Given the description of an element on the screen output the (x, y) to click on. 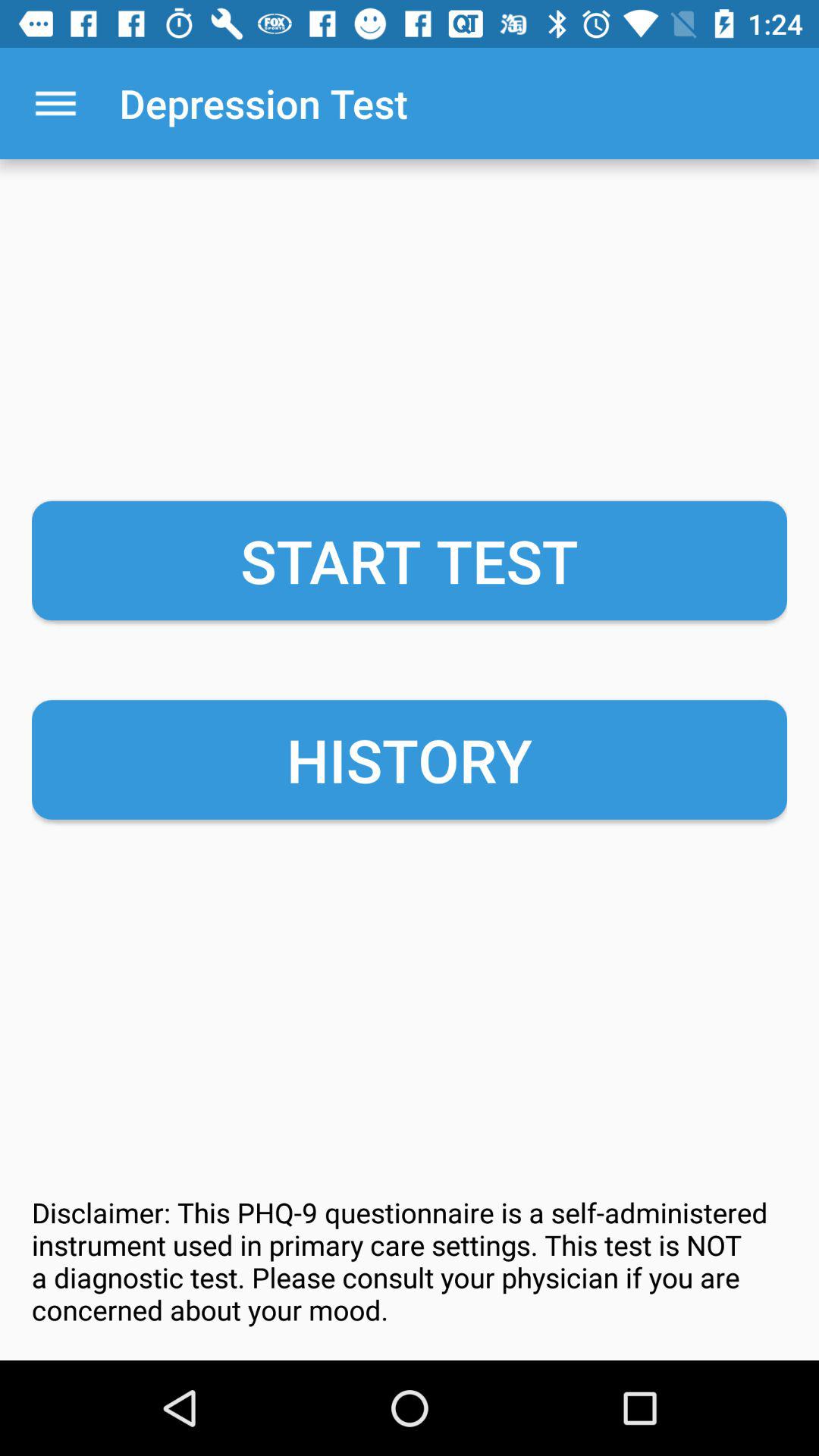
tap the item next to depression test icon (55, 103)
